Given the description of an element on the screen output the (x, y) to click on. 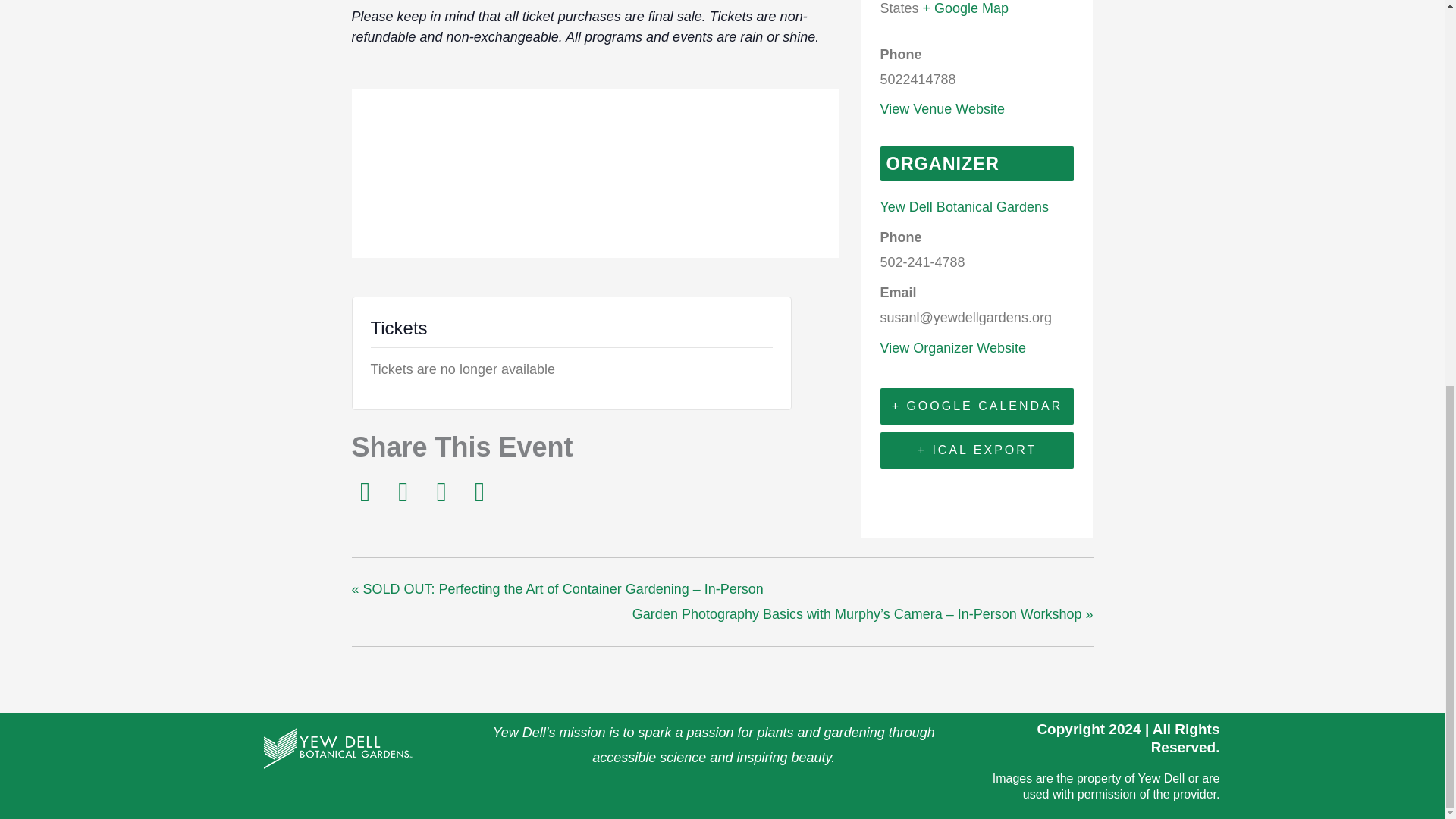
WhatsApp (478, 491)
Add to Google Calendar (976, 406)
Click to view a Google Map (966, 7)
Facebook (368, 491)
Yew Dell Botanical Gardens (963, 206)
Email (441, 491)
Twitter (403, 491)
